Given the description of an element on the screen output the (x, y) to click on. 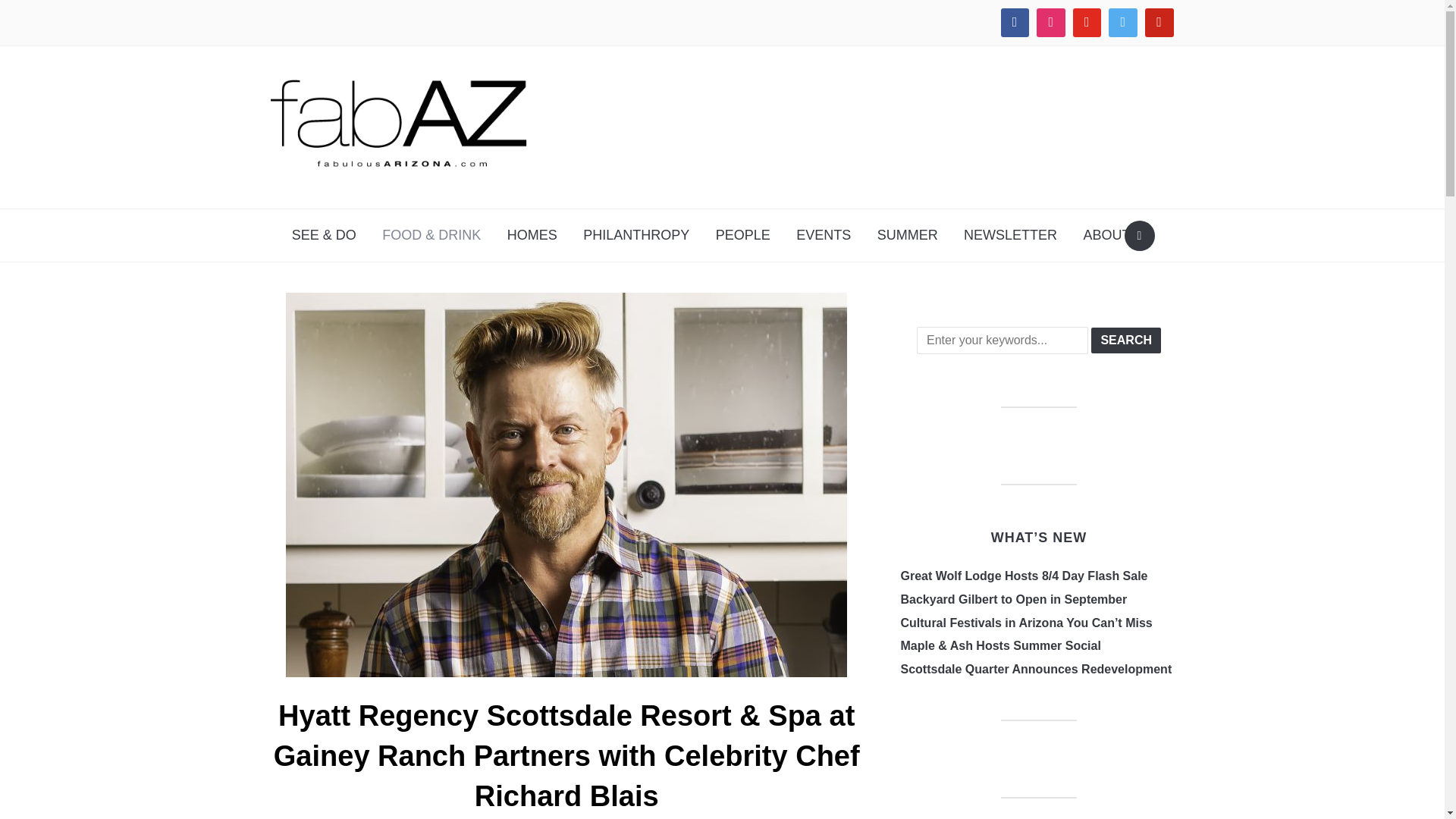
Facebook (1015, 22)
Default Label (1159, 22)
Fabulous People (742, 235)
Search (1139, 235)
Twitter (1123, 22)
Default Label (1086, 22)
Search (1125, 339)
Search (1125, 339)
Instagram (1050, 22)
